Given the description of an element on the screen output the (x, y) to click on. 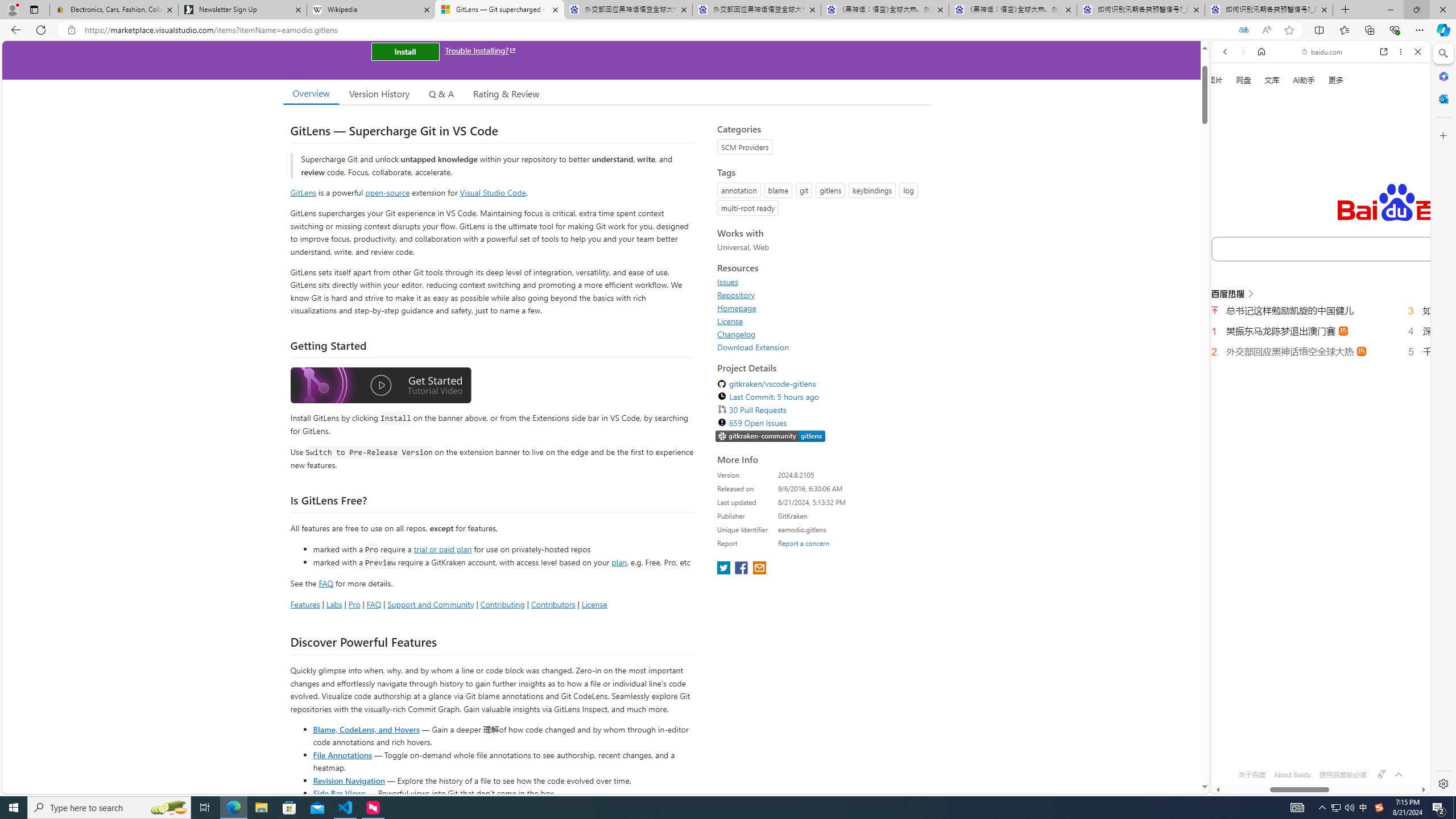
About Baidu (1292, 774)
Contributors (552, 603)
Watch the GitLens Getting Started video (380, 385)
Visual Studio Code (492, 192)
License (820, 320)
